Given the description of an element on the screen output the (x, y) to click on. 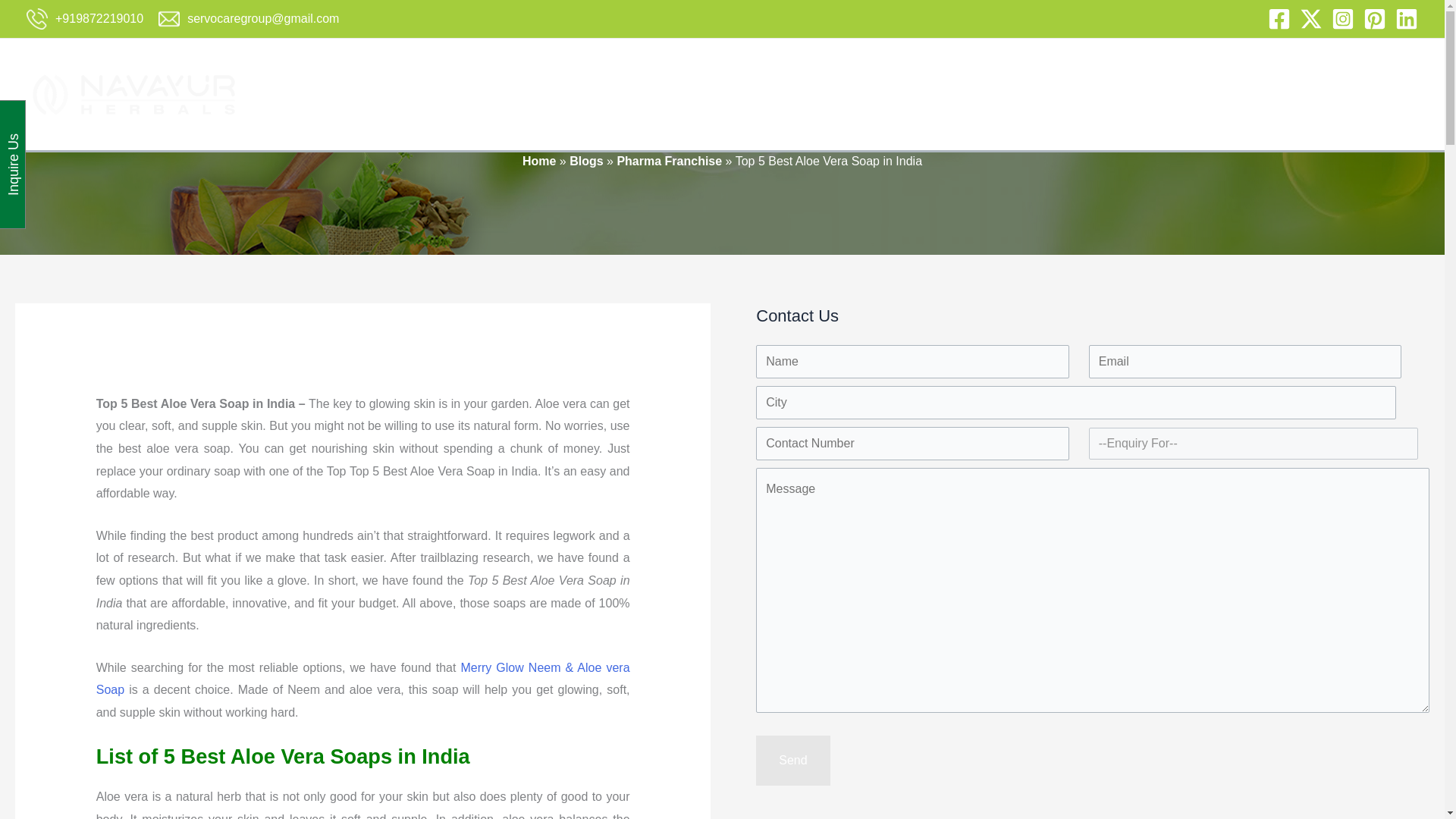
Corporate (562, 93)
Send (792, 760)
Classifications (1001, 93)
Oral Preparations (772, 93)
Topical Preparations (890, 93)
Business Verticals (658, 93)
